Given the description of an element on the screen output the (x, y) to click on. 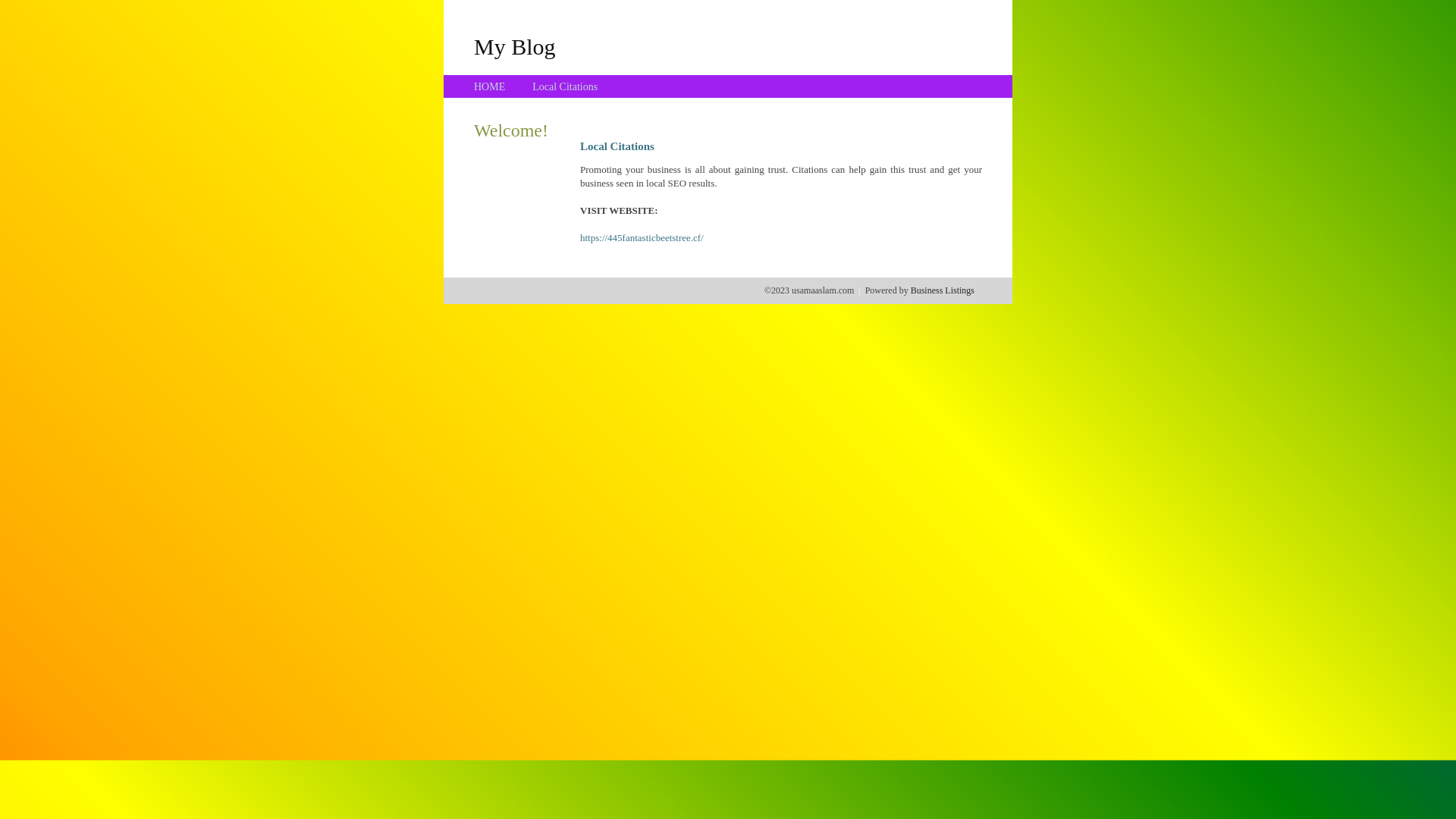
My Blog Element type: text (514, 46)
HOME Element type: text (489, 86)
Local Citations Element type: text (564, 86)
https://445fantasticbeetstree.cf/ Element type: text (641, 237)
Business Listings Element type: text (942, 290)
